Given the description of an element on the screen output the (x, y) to click on. 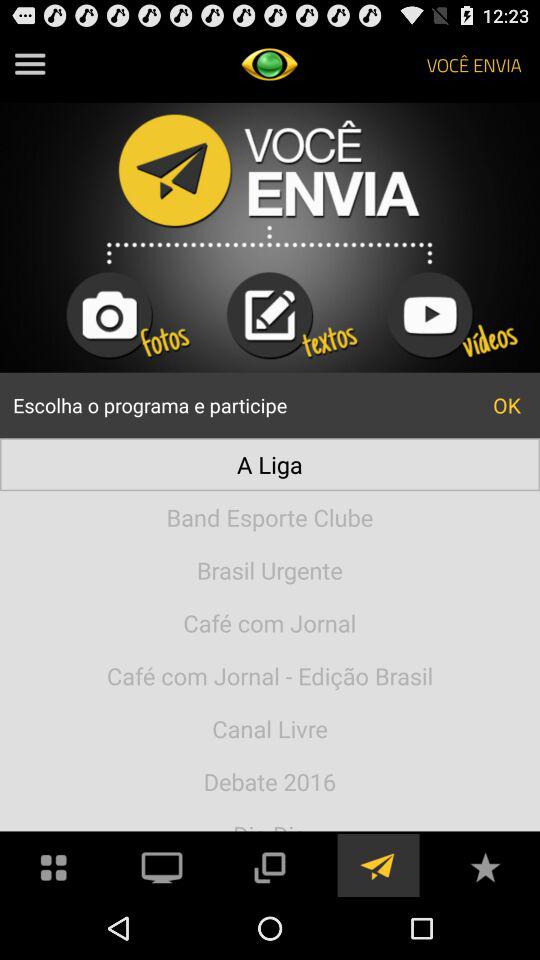
favorite this site (485, 865)
